Given the description of an element on the screen output the (x, y) to click on. 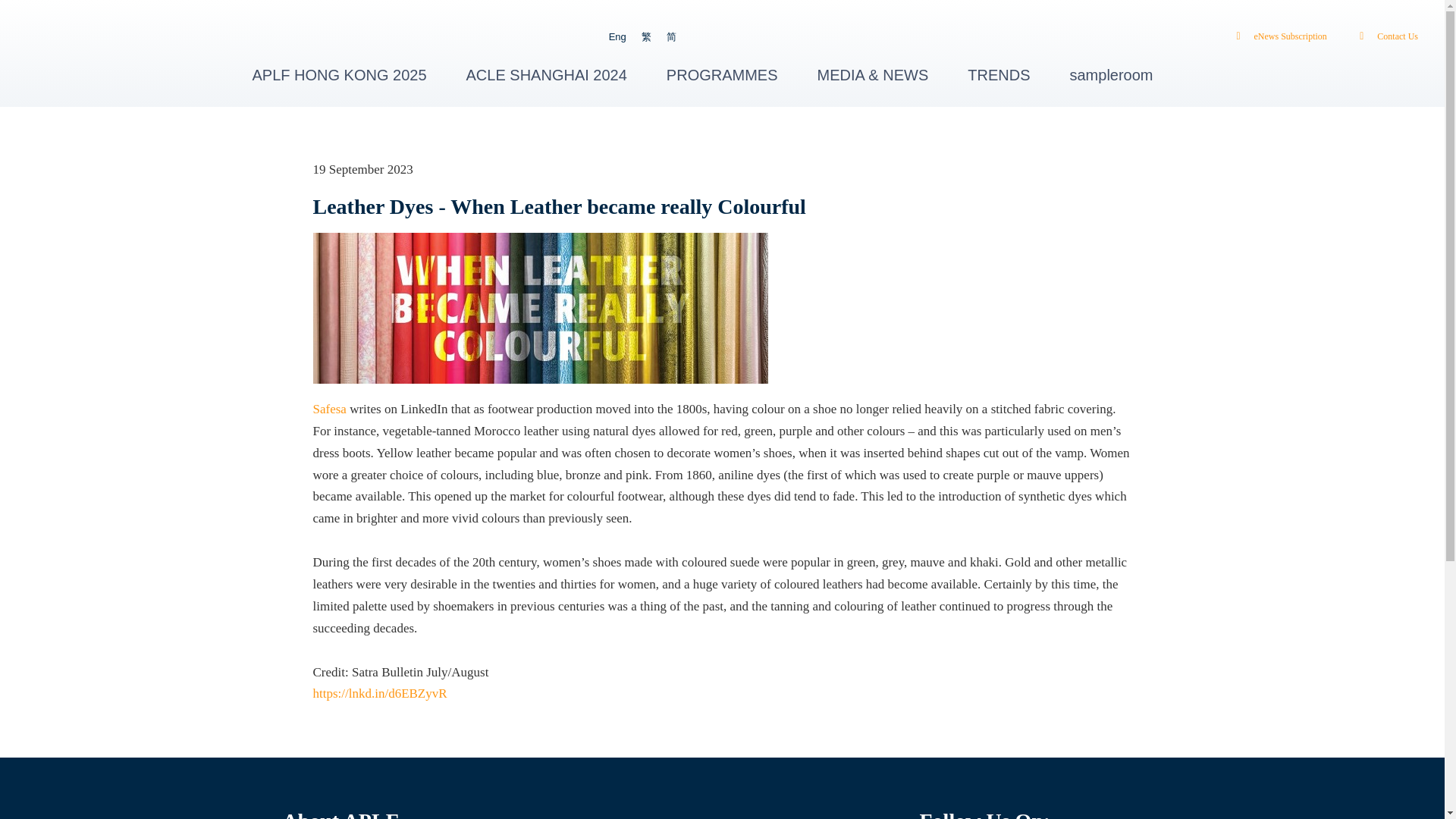
Eng (617, 36)
APLF HONG KONG 2025 (338, 74)
eNews Subscription (1276, 36)
Contact Us (1384, 36)
